Given the description of an element on the screen output the (x, y) to click on. 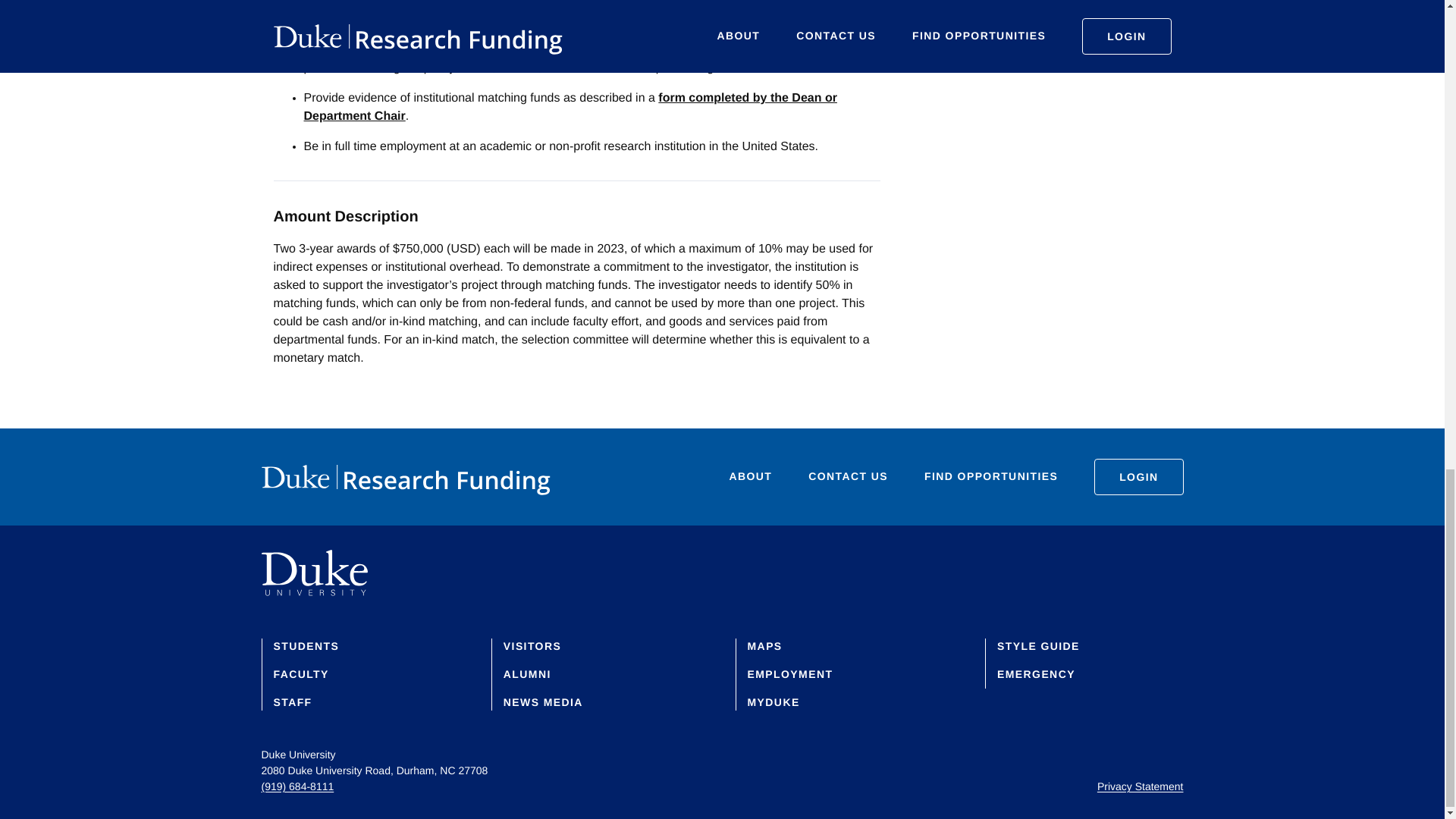
VISITORS (531, 645)
MYDUKE (773, 702)
CONTACT US (848, 477)
Privacy Statement (1140, 786)
STYLE GUIDE (1038, 645)
EMERGENCY (1036, 674)
NEWS MEDIA (543, 702)
FIND OPPORTUNITIES (991, 477)
ABOUT (751, 477)
MAPS (765, 645)
EMPLOYMENT (790, 674)
STAFF (292, 702)
form completed by the Dean or Department Chair (568, 106)
LOGIN (1138, 476)
FACULTY (301, 674)
